Given the description of an element on the screen output the (x, y) to click on. 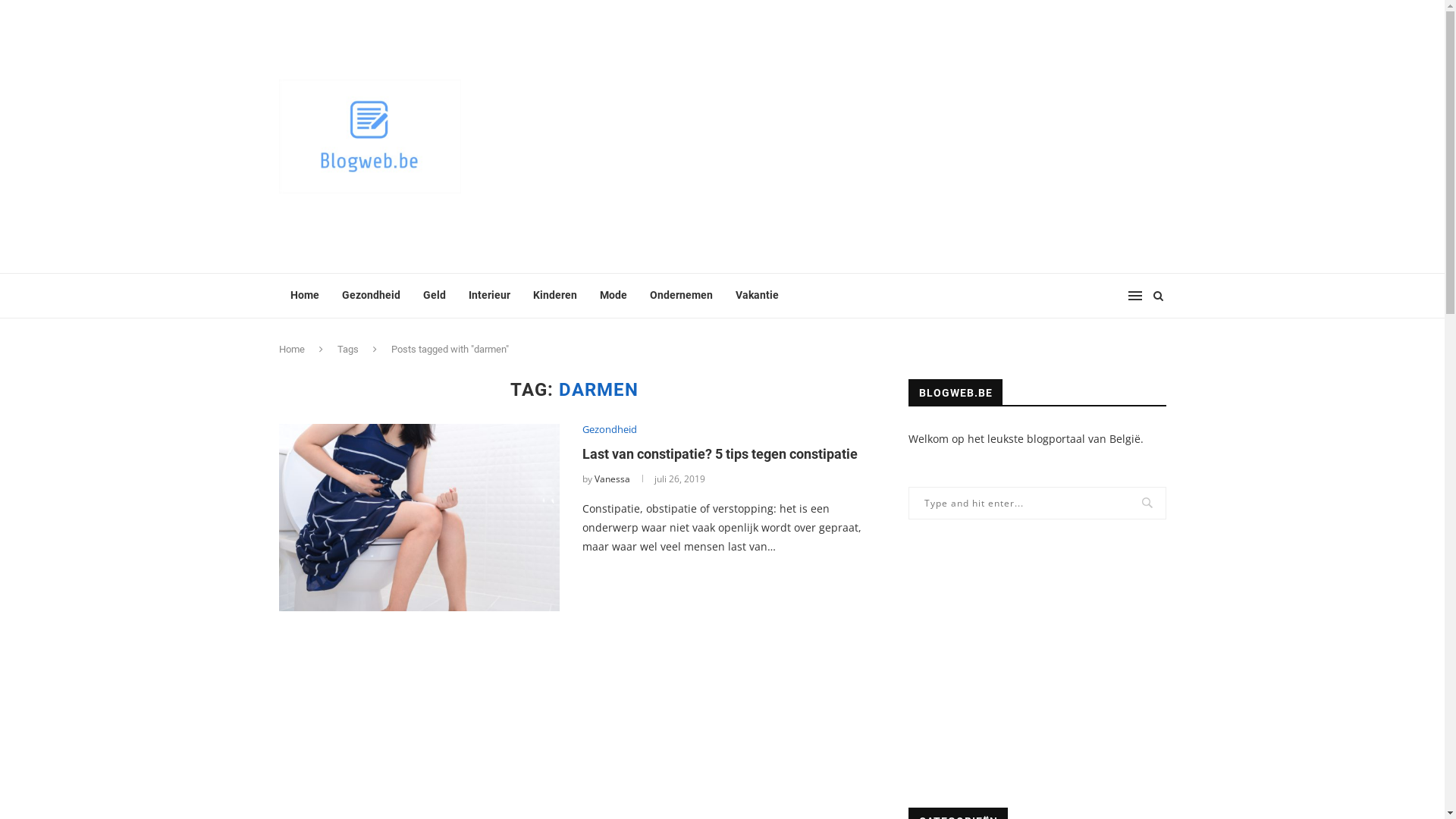
Gezondheid Element type: text (609, 429)
Geld Element type: text (433, 295)
Mode Element type: text (613, 295)
Vanessa Element type: text (612, 478)
Last van constipatie? 5 tips tegen constipatie Element type: hover (419, 517)
Gezondheid Element type: text (370, 295)
Vakantie Element type: text (756, 295)
Home Element type: text (291, 348)
Advertisement Element type: hover (1037, 663)
Interieur Element type: text (488, 295)
Advertisement Element type: hover (874, 136)
Kinderen Element type: text (554, 295)
Last van constipatie? 5 tips tegen constipatie Element type: text (719, 453)
Home Element type: text (304, 295)
Ondernemen Element type: text (681, 295)
